Given the description of an element on the screen output the (x, y) to click on. 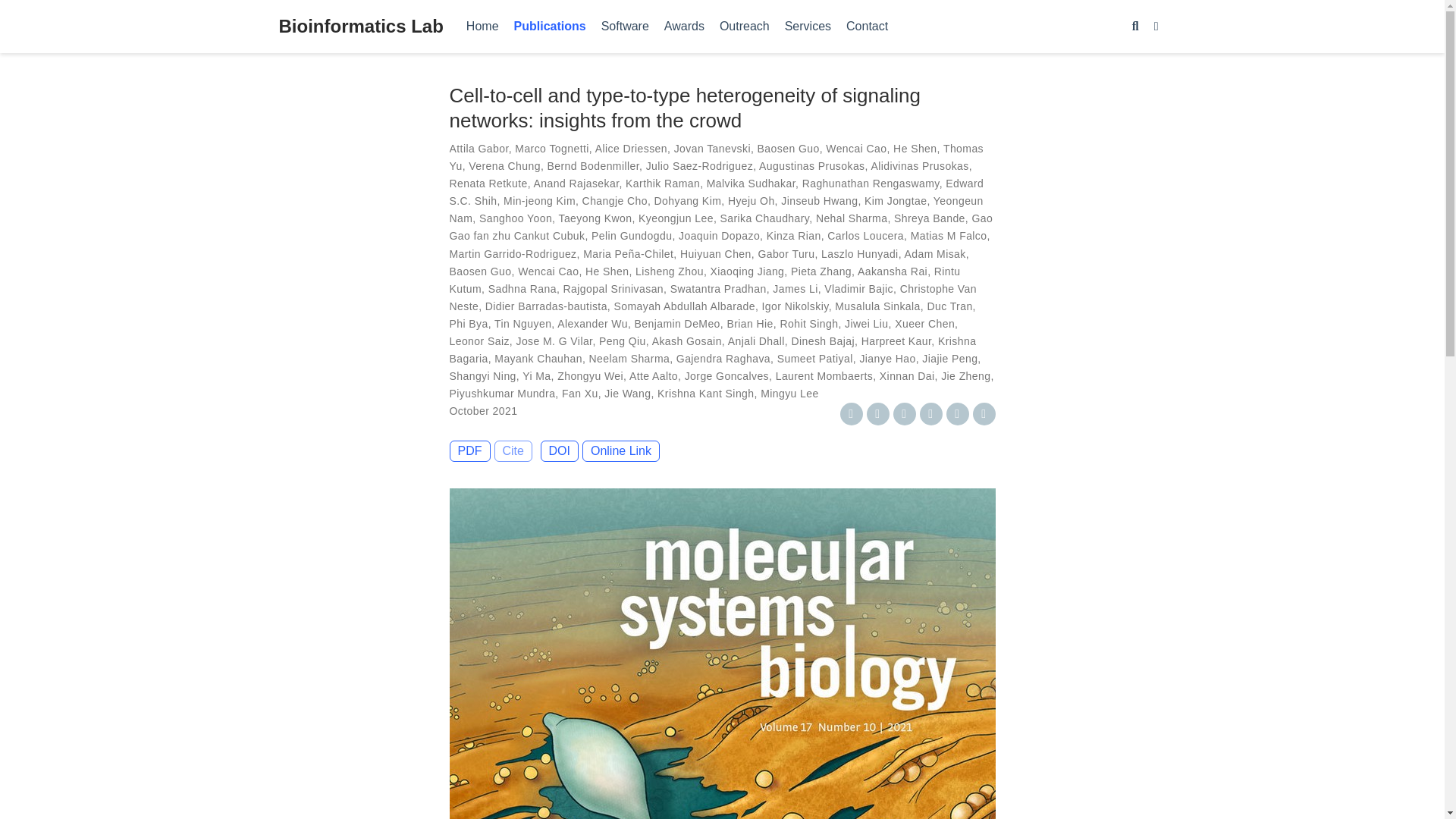
Awards (683, 26)
Bioinformatics Lab (361, 26)
Bernd Bodenmiller (593, 165)
Anand Rajasekar (577, 183)
Software (625, 26)
Baosen Guo (788, 148)
Dohyang Kim (687, 200)
Outreach (744, 26)
Alice Driessen (630, 148)
Yeongeun Nam (715, 209)
Alidivinas Prusokas (919, 165)
Services (807, 26)
Wencai Cao (855, 148)
Taeyong Kwon (594, 218)
Marco Tognetti (551, 148)
